Given the description of an element on the screen output the (x, y) to click on. 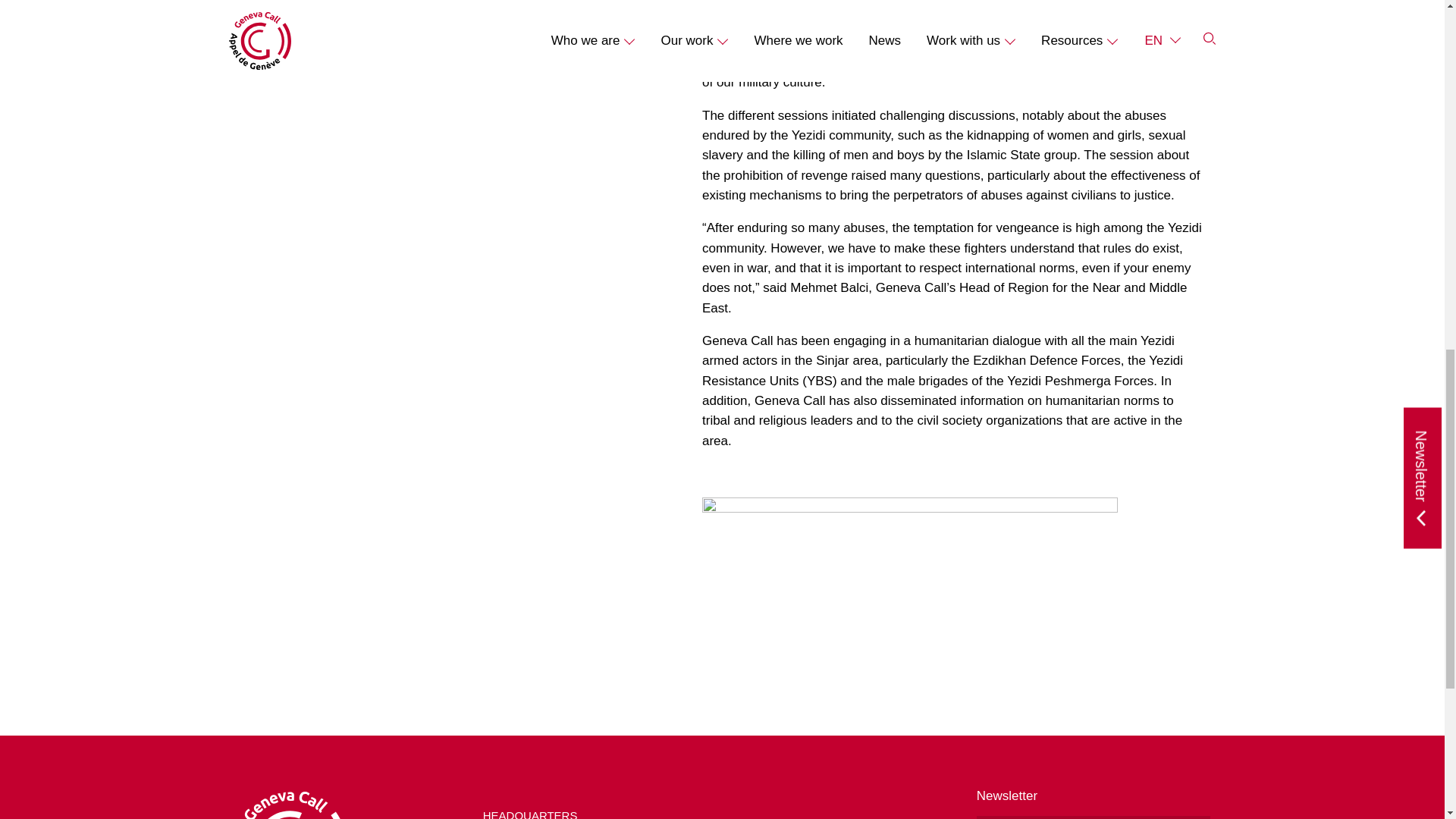
Geneva Call (350, 805)
